Given the description of an element on the screen output the (x, y) to click on. 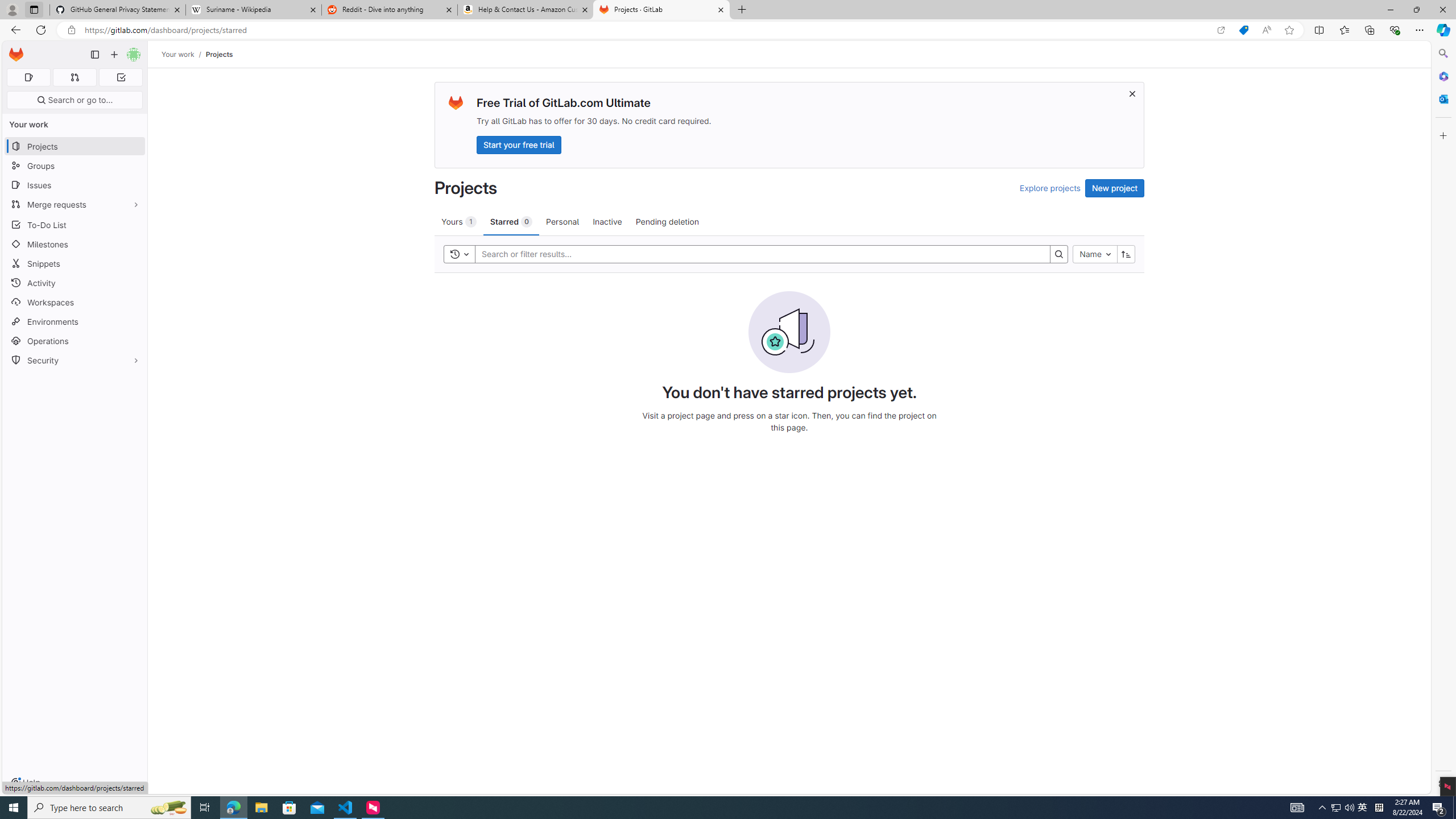
Inactive (606, 221)
Environments (74, 321)
Merge requests (74, 203)
Start your free trial (519, 144)
Groups (74, 165)
Help & Contact Us - Amazon Customer Service (525, 9)
To-Do List (74, 224)
